Given the description of an element on the screen output the (x, y) to click on. 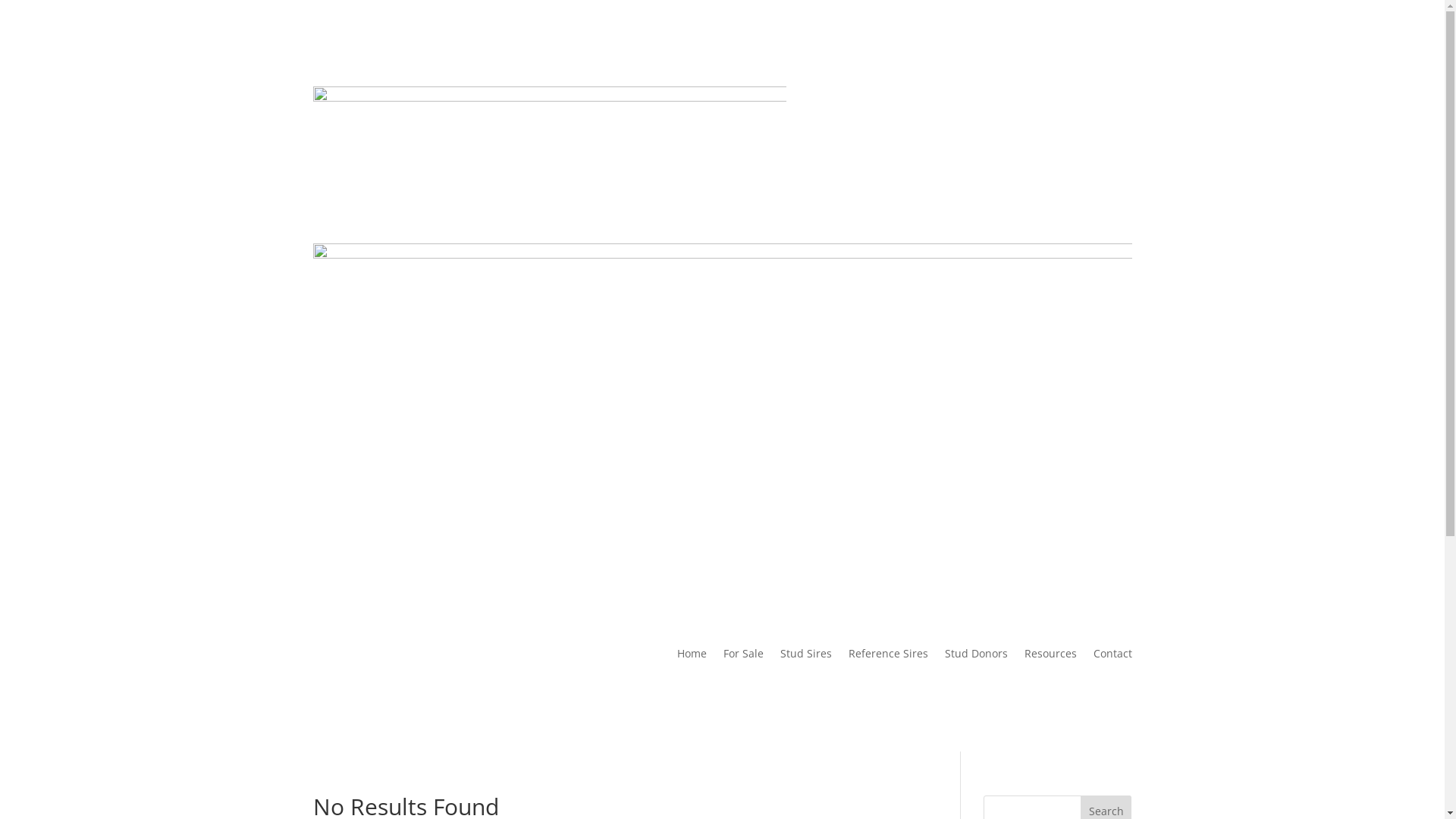
Home Element type: text (691, 656)
Stud Sires Element type: text (805, 656)
For Sale Element type: text (743, 656)
Reference Sires Element type: text (887, 656)
logo-compressed Element type: hover (548, 135)
Stud Donors Element type: text (975, 656)
hero Element type: hover (721, 413)
Resources Element type: text (1049, 656)
Contact Element type: text (1112, 656)
